Given the description of an element on the screen output the (x, y) to click on. 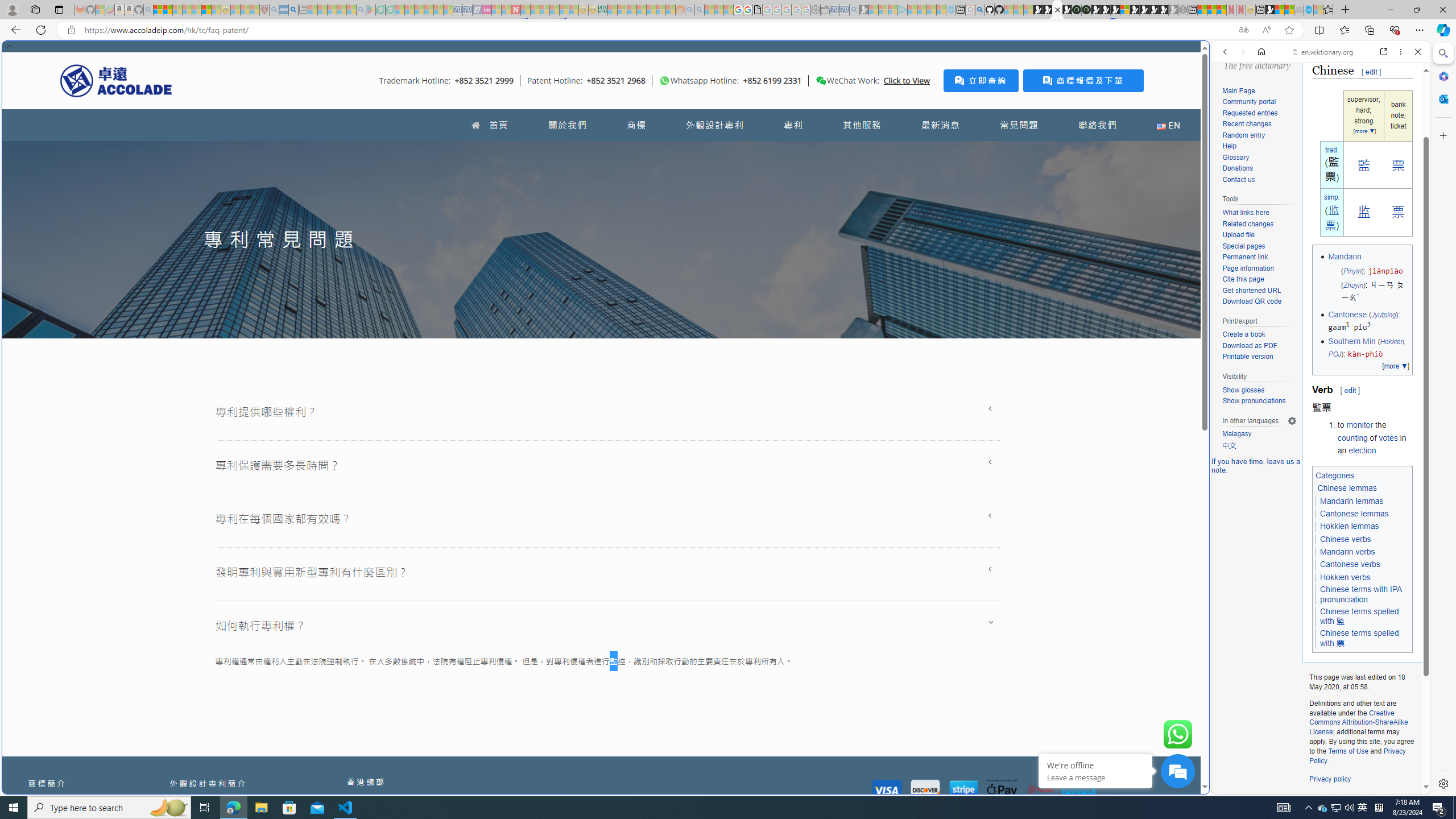
Search or enter web address (922, 108)
Contact us (1238, 179)
google_privacy_policy_zh-CN.pdf (1118, 683)
Zhuyin (1352, 285)
Random entry (1243, 135)
